Given the description of an element on the screen output the (x, y) to click on. 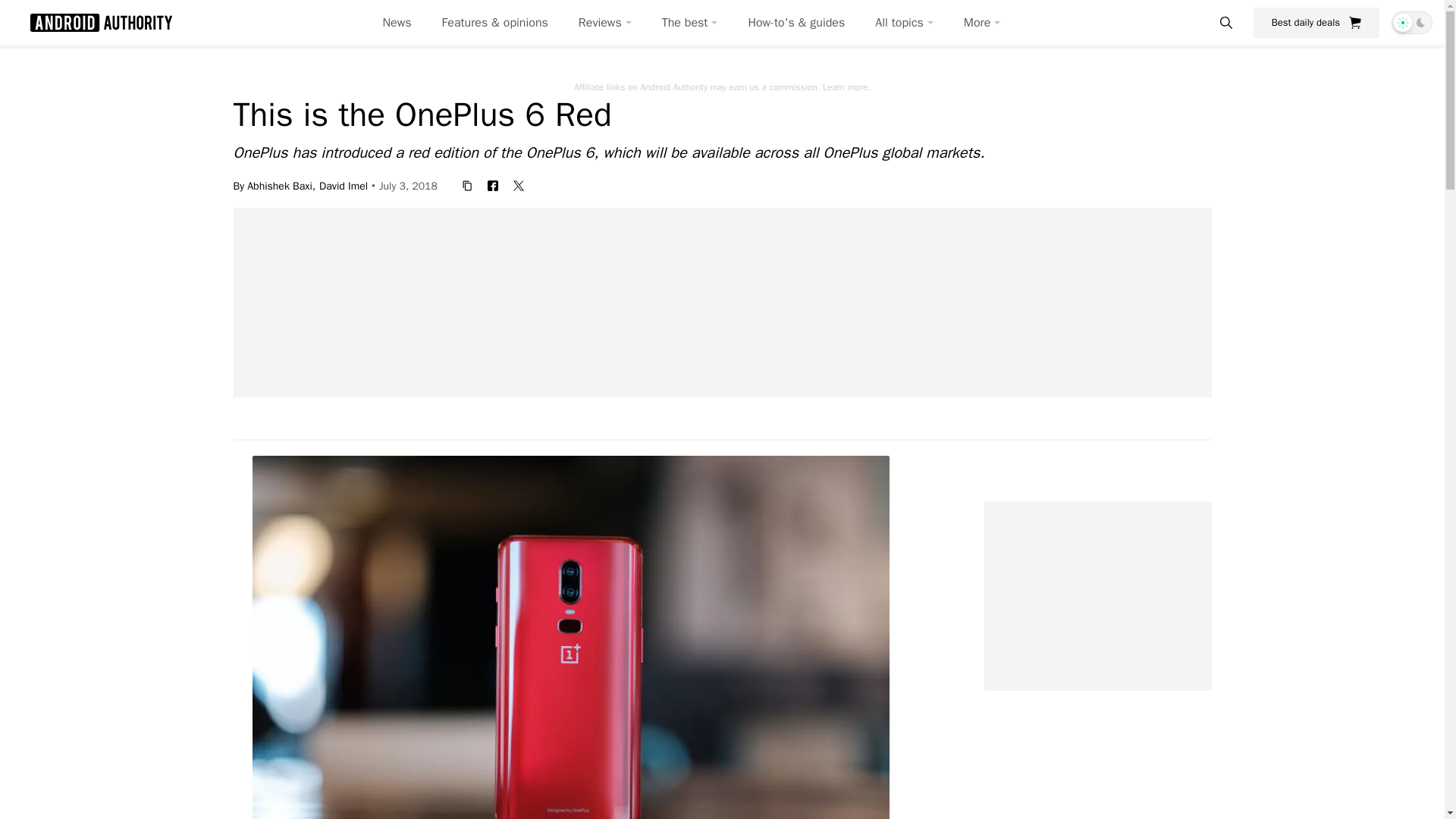
facebook (492, 185)
twitter (518, 185)
Best daily deals (1315, 22)
Learn more. (846, 86)
The best (689, 22)
Abhishek Baxi (282, 185)
David Imel (343, 185)
Reviews (604, 22)
All topics (904, 22)
